Given the description of an element on the screen output the (x, y) to click on. 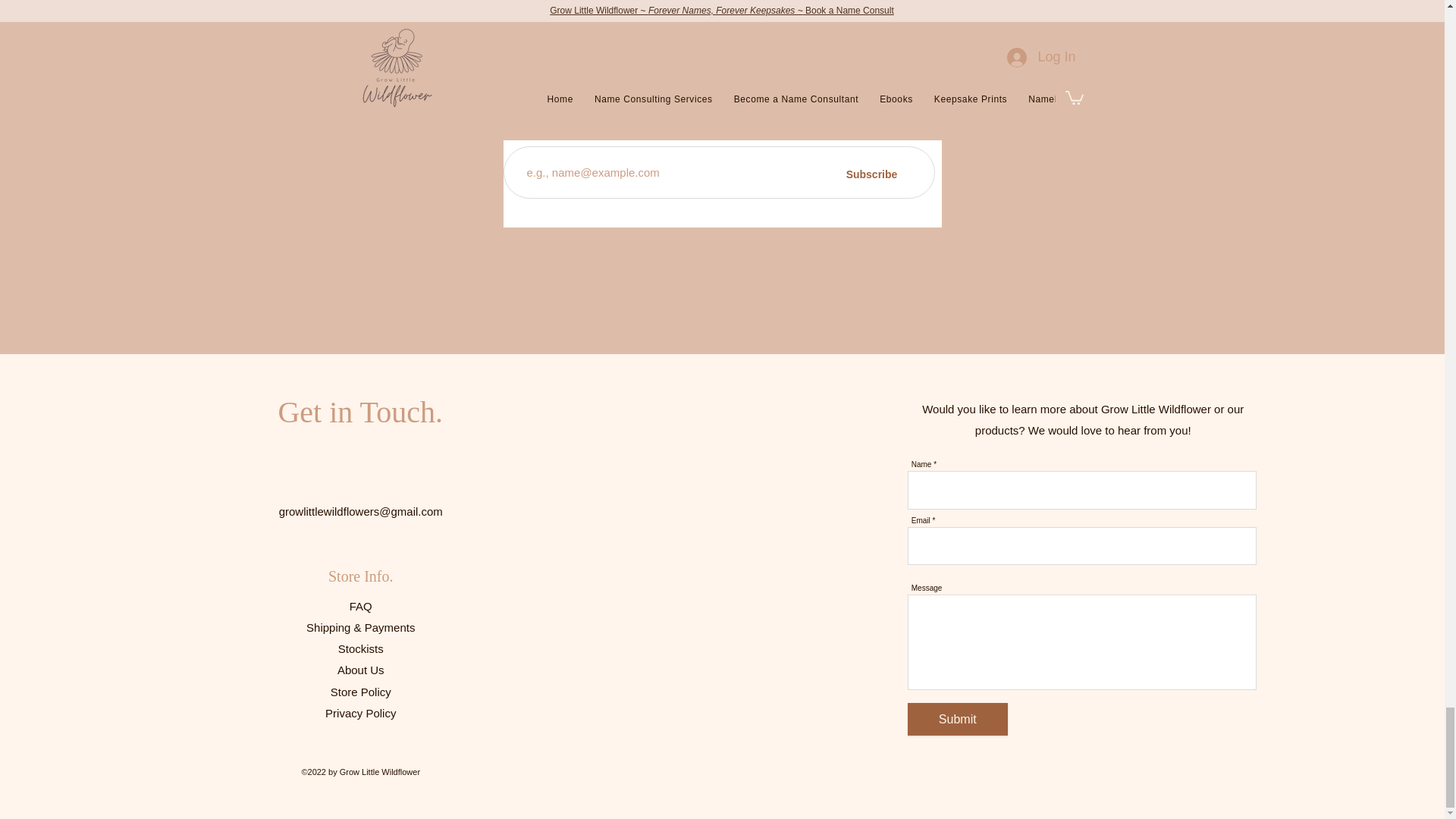
Stockists (360, 648)
Subscribe (871, 174)
Submit (957, 718)
Privacy Policy (360, 712)
About Us (360, 669)
FAQ (360, 605)
Store Policy (360, 691)
